Given the description of an element on the screen output the (x, y) to click on. 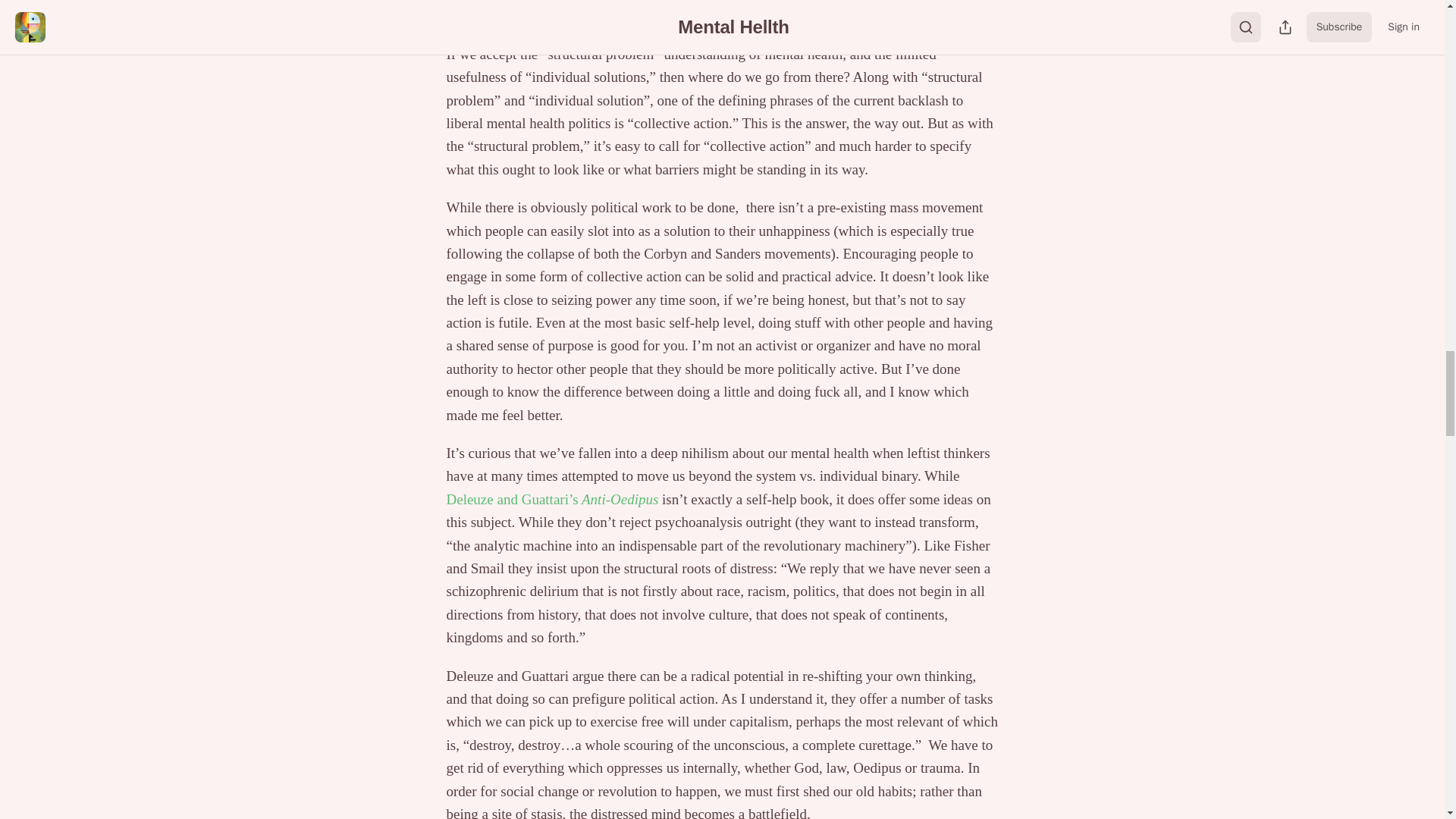
Anti-Oedipus (618, 498)
